Given the description of an element on the screen output the (x, y) to click on. 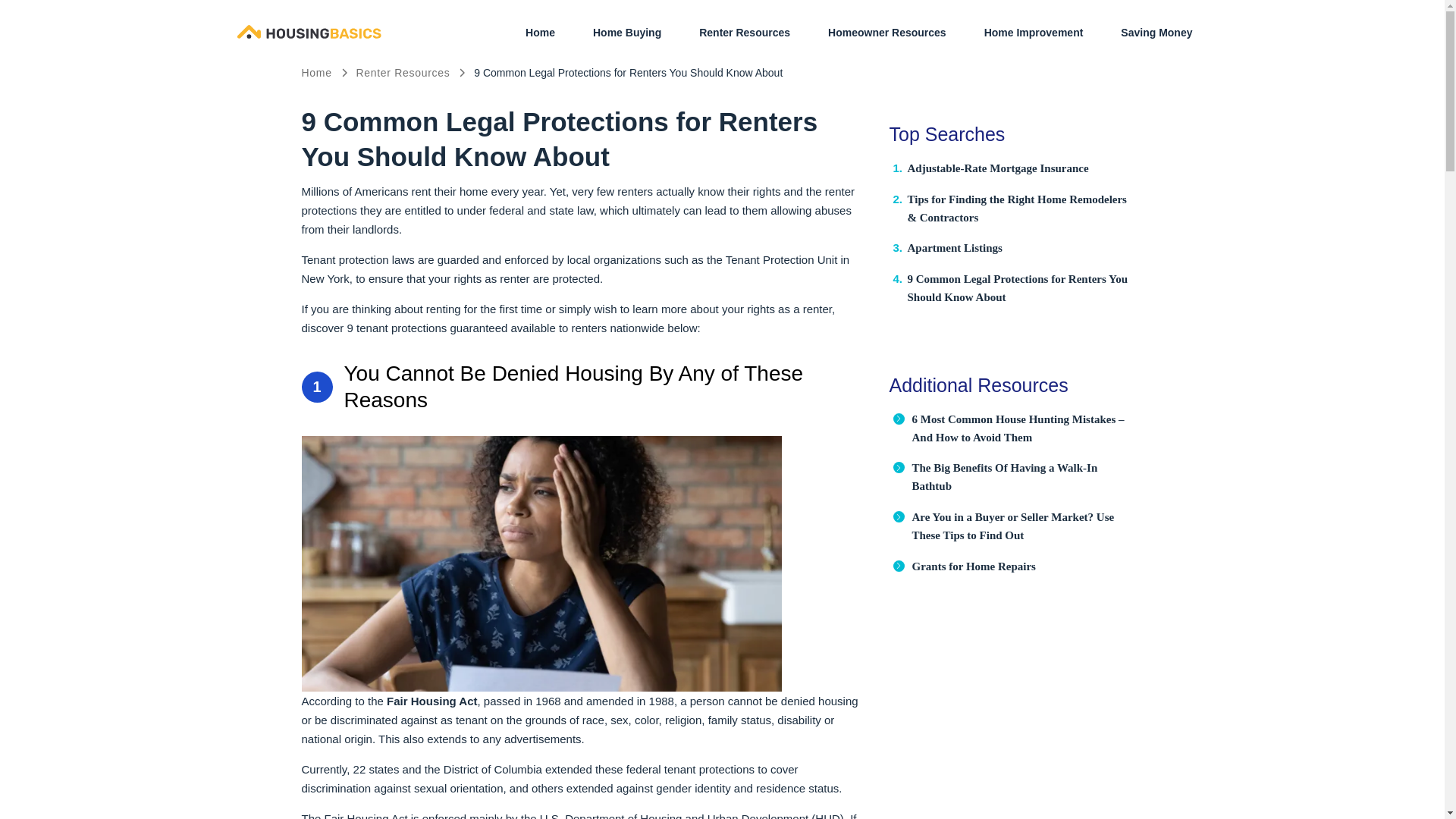
9 Common Legal Protections for Renters You Should Know About (1016, 287)
Home (540, 32)
Home Improvement (1033, 32)
The Big Benefits Of Having a Walk-In Bathtub (1004, 476)
Home (316, 72)
Apartment Listings (954, 247)
Renter Resources (402, 72)
Grants for Home Repairs (973, 566)
Saving Money (1155, 32)
Homeowner Resources (887, 32)
